Given the description of an element on the screen output the (x, y) to click on. 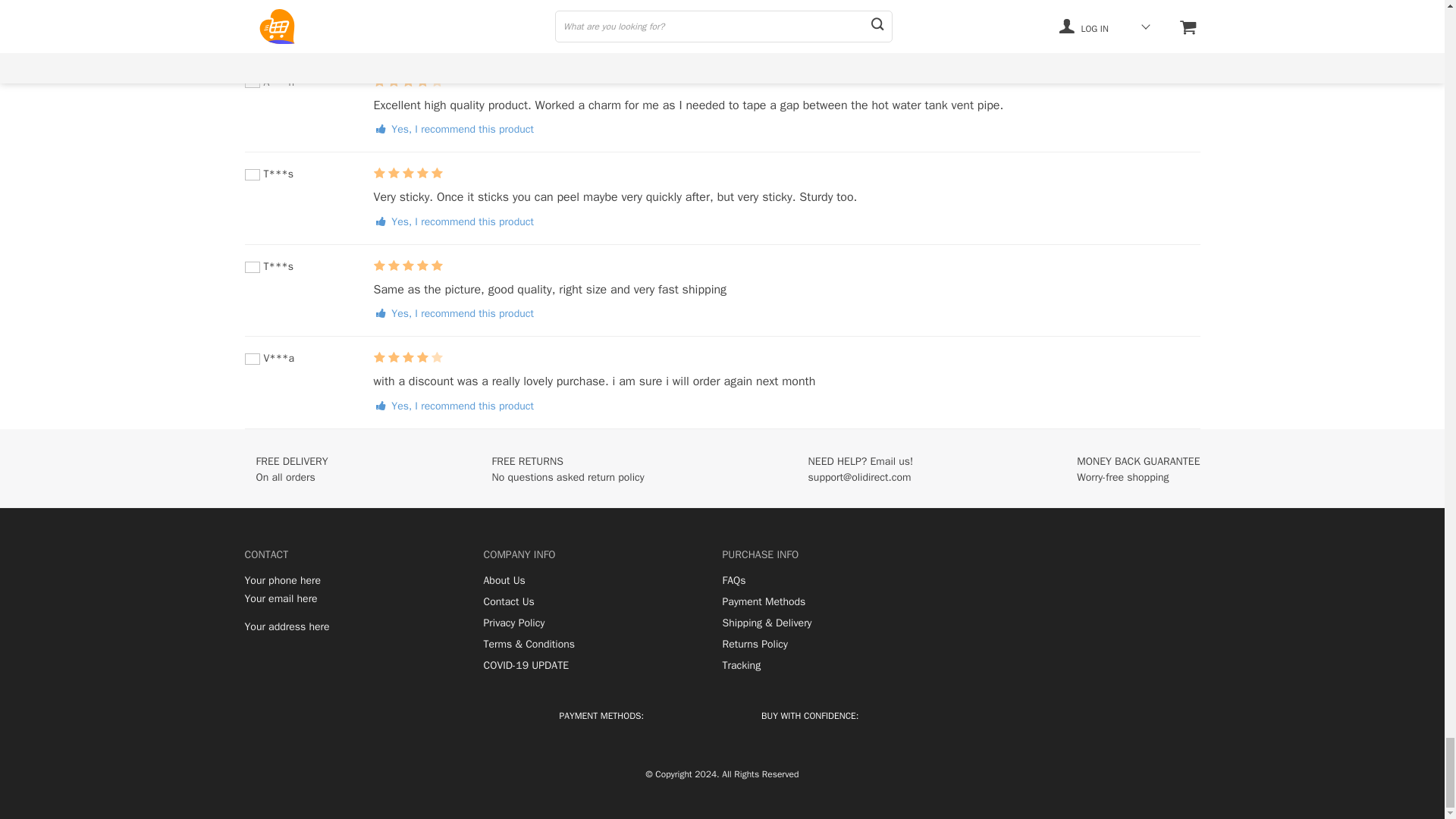
Payment Methods (763, 602)
FAQs (733, 581)
Contact Us (508, 602)
Privacy Policy (513, 622)
COVID-19 UPDATE (526, 665)
Your email here (280, 599)
About Us (504, 581)
Your phone here (282, 581)
